Given the description of an element on the screen output the (x, y) to click on. 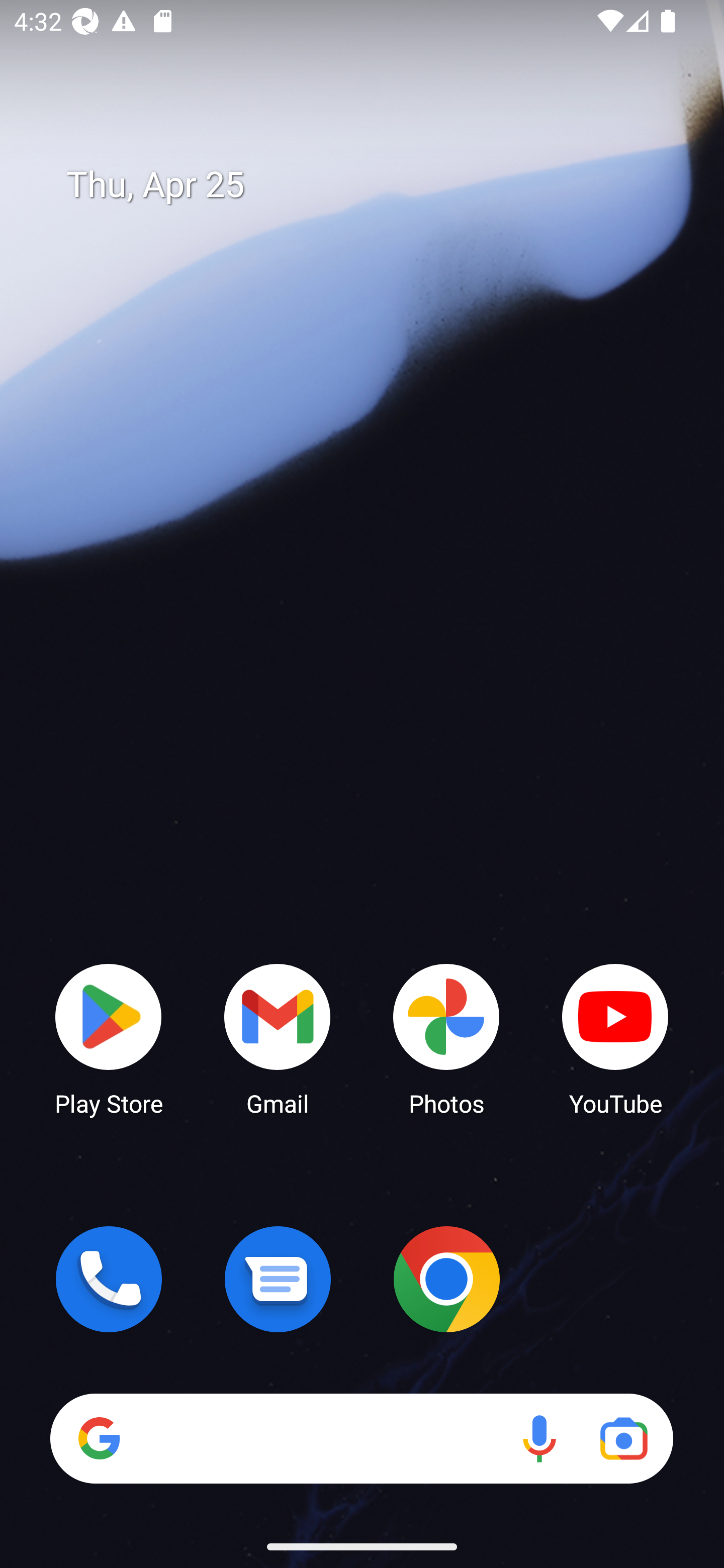
Thu, Apr 25 (375, 184)
Play Store (108, 1038)
Gmail (277, 1038)
Photos (445, 1038)
YouTube (615, 1038)
Phone (108, 1279)
Messages (277, 1279)
Chrome (446, 1279)
Search Voice search Google Lens (361, 1438)
Voice search (539, 1438)
Google Lens (623, 1438)
